Given the description of an element on the screen output the (x, y) to click on. 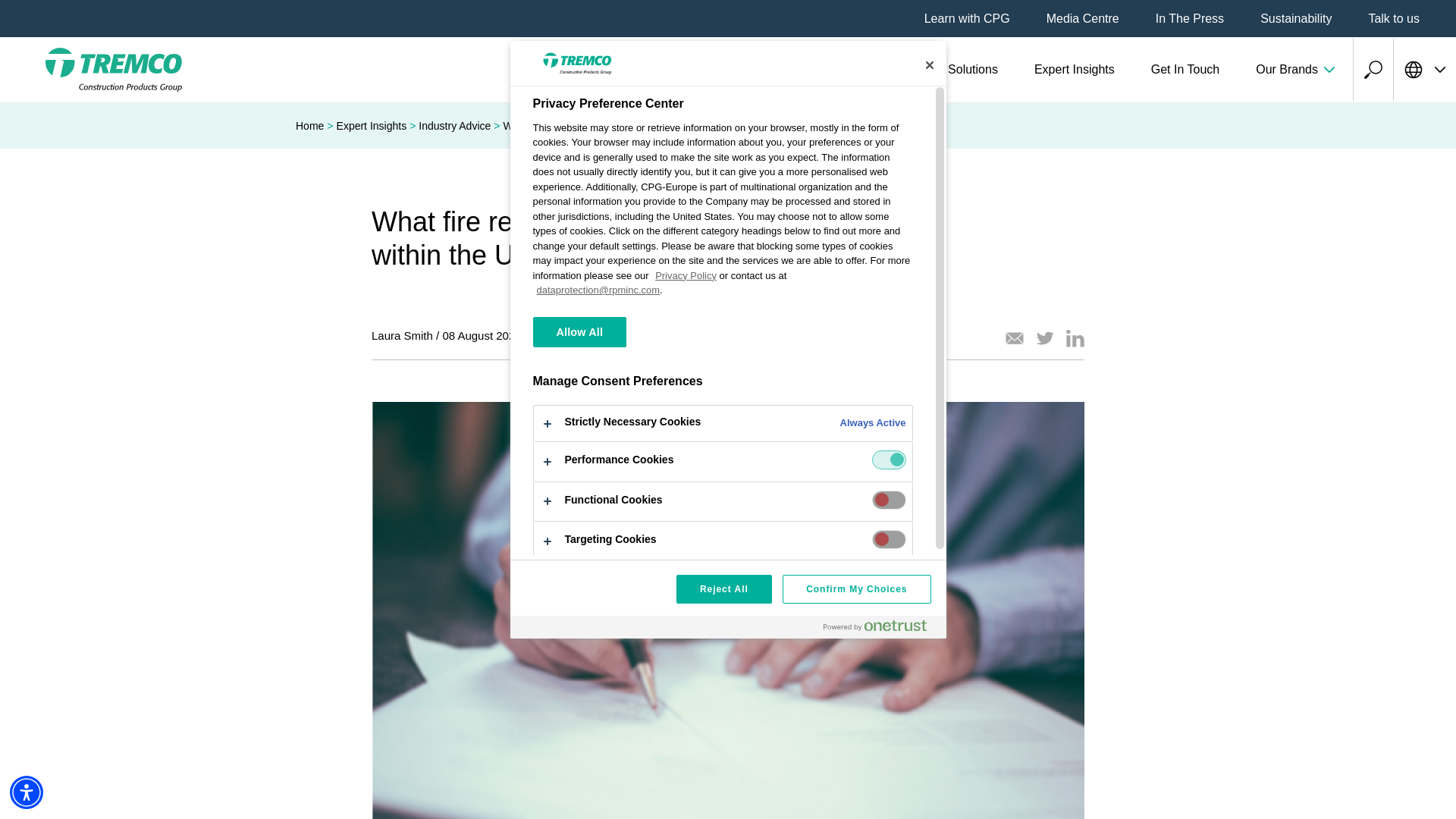
Expert Insights (1074, 69)
In The Press (1190, 18)
Accessibility Menu (26, 792)
Sustainability (1296, 18)
Media Centre (1082, 18)
Reject All Confirm My Choices (726, 598)
Powered by OneTrust Opens in a new Tab (875, 625)
Our Brands (1295, 69)
Get In Touch (1185, 69)
Learn with CPG (967, 18)
